Given the description of an element on the screen output the (x, y) to click on. 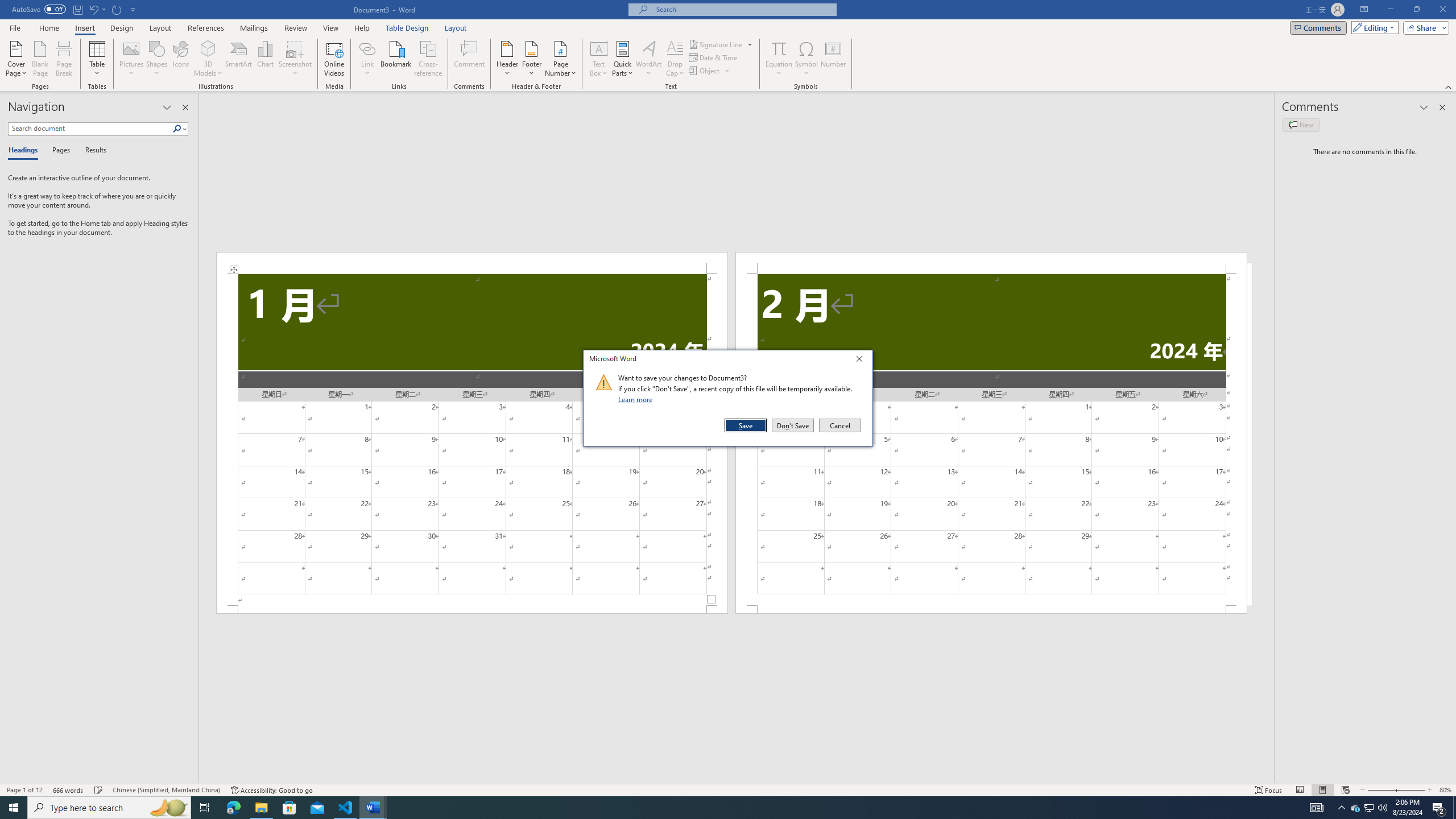
Link (367, 58)
Blank Page (40, 58)
Table (97, 58)
File Explorer - 1 running window (261, 807)
Bookmark... (396, 58)
Footer (531, 58)
Learn more (636, 399)
